Given the description of an element on the screen output the (x, y) to click on. 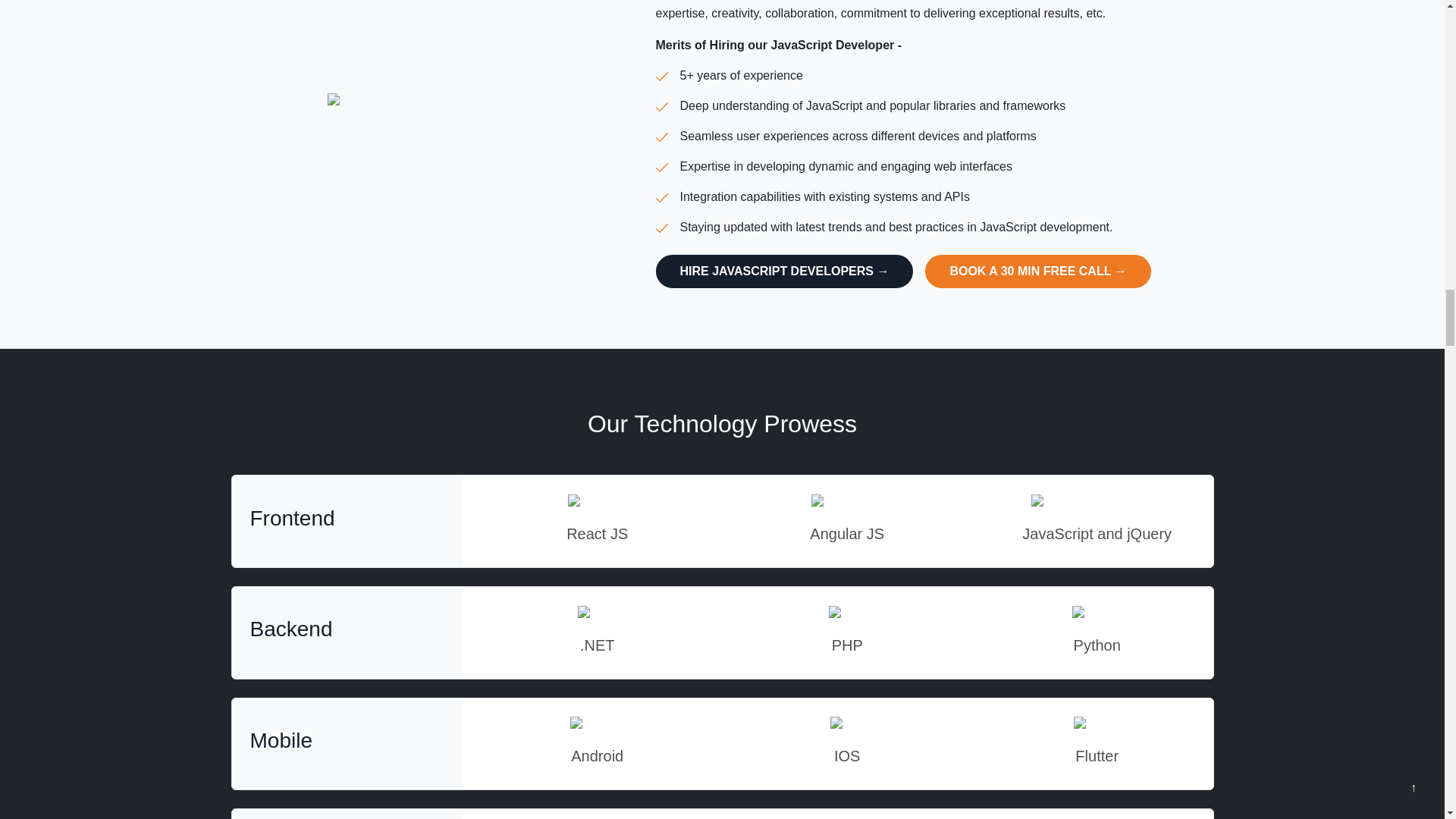
HIRE JAVASCRIPT DEVELOPERS (783, 271)
BOOK A 30 MIN FREE CALL (1037, 271)
